Given the description of an element on the screen output the (x, y) to click on. 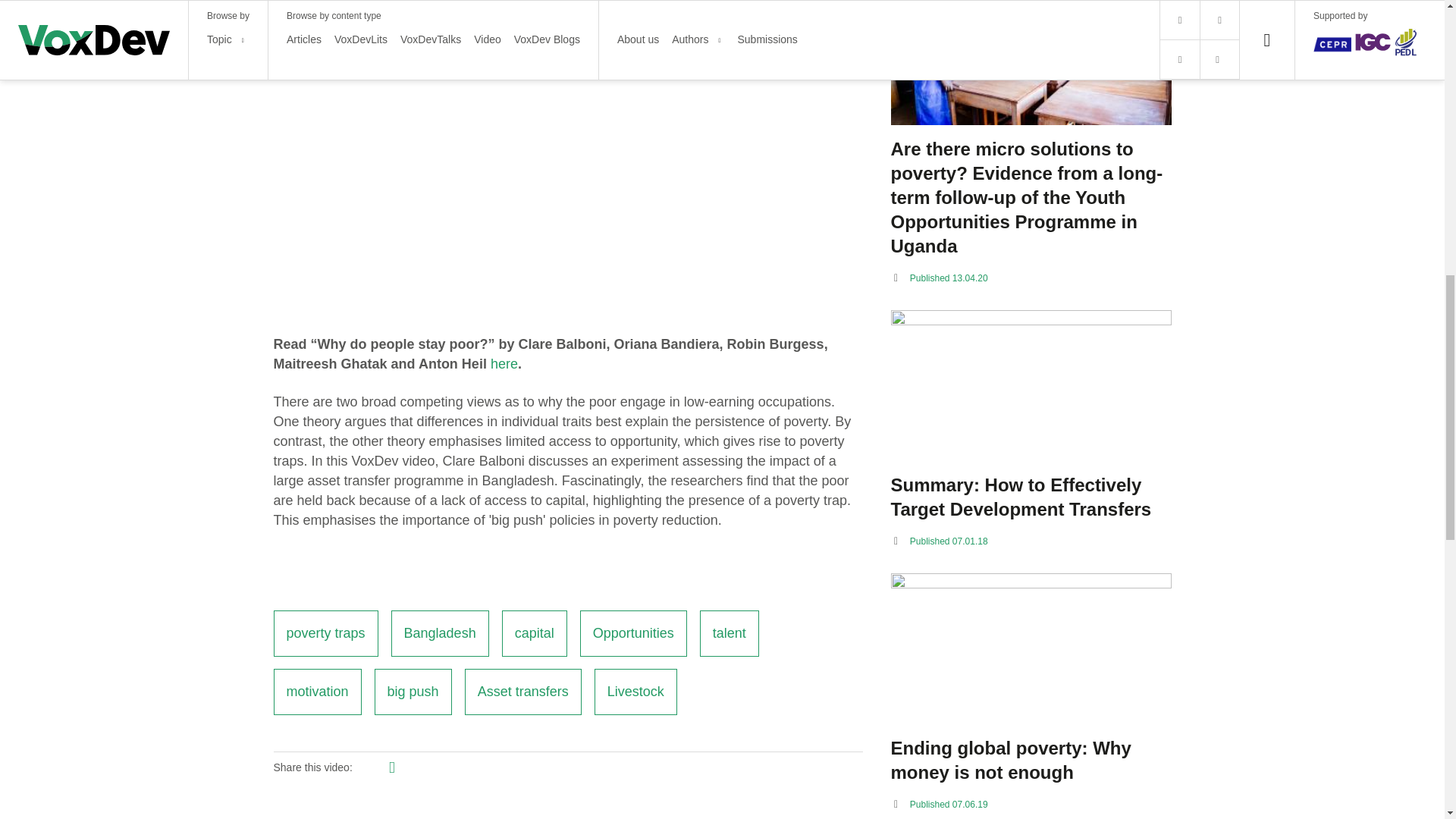
Summary: How to Effectively Target Development Transfers (1029, 497)
poverty traps (325, 633)
here (504, 363)
Summary: How to Effectively Target Development Transfers (1029, 385)
Ending global poverty: Why money is not enough (1029, 760)
Ending global poverty: Why money is not enough (1029, 648)
